Given the description of an element on the screen output the (x, y) to click on. 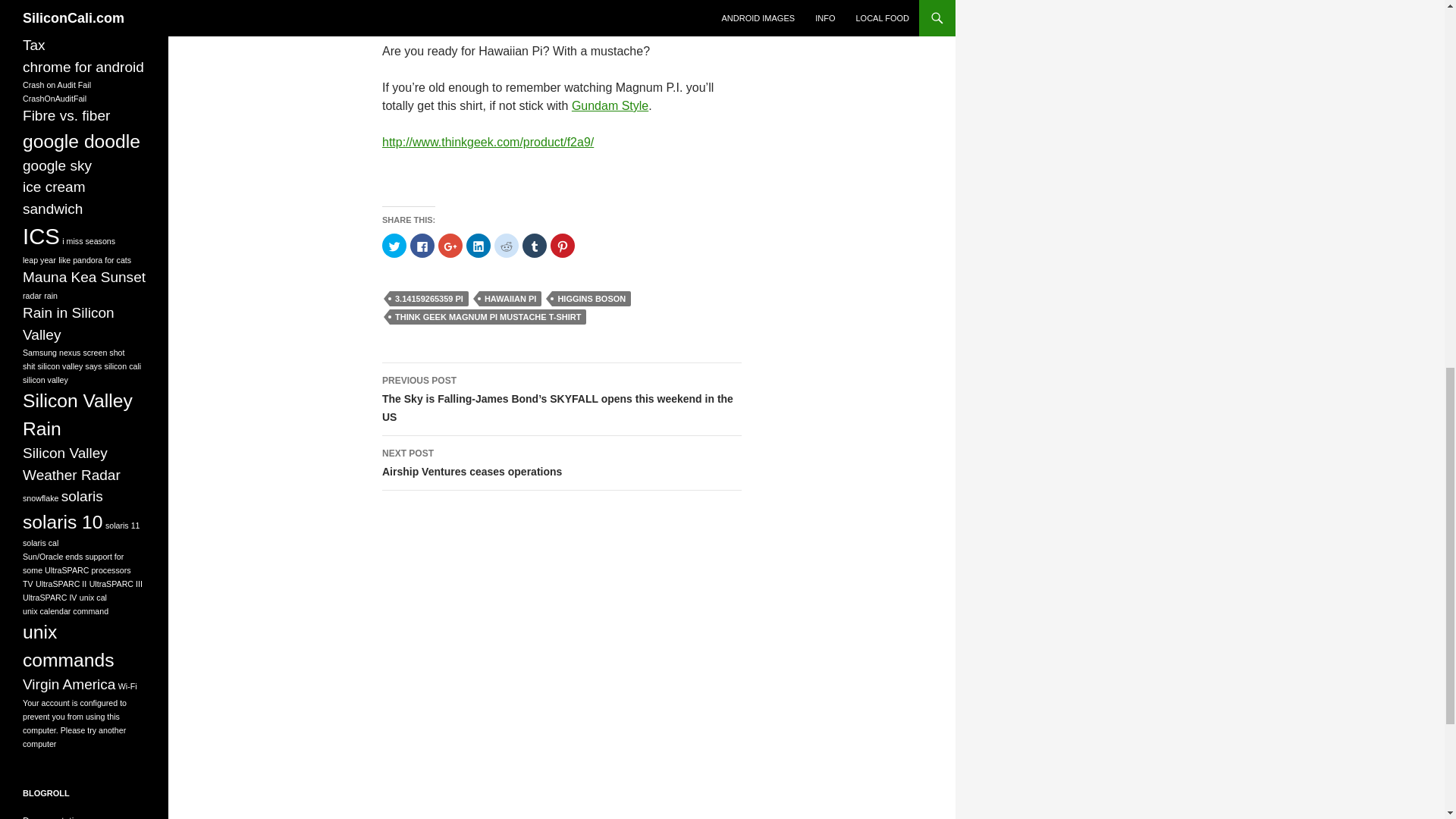
Click to share on Facebook (421, 245)
chrome for android (561, 462)
Click to share on LinkedIn (83, 66)
California Sales Tax (477, 245)
Click to share on Reddit (73, 34)
HIGGINS BOSON (506, 245)
Click to share on Tumblr (590, 298)
HAWAIIAN PI (534, 245)
Click to share on Pinterest (510, 298)
THINK GEEK MAGNUM PI MUSTACHE T-SHIRT (562, 245)
Fibre vs. fiber (488, 316)
CrashOnAuditFail (66, 115)
Click to share on Twitter (54, 98)
